Given the description of an element on the screen output the (x, y) to click on. 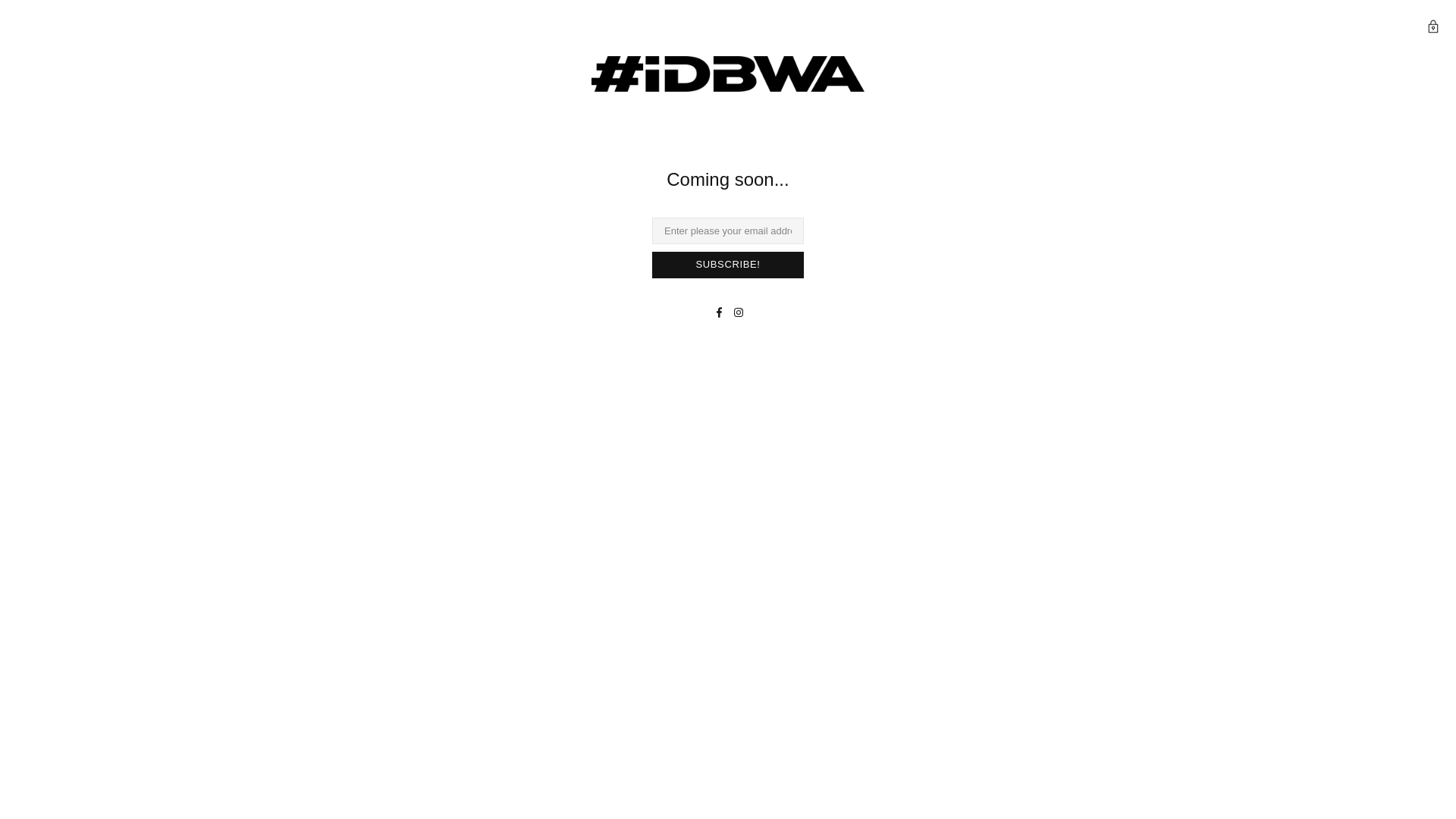
SUBSCRIBE! Element type: text (727, 264)
#IDBWA Element type: text (60, 27)
